Given the description of an element on the screen output the (x, y) to click on. 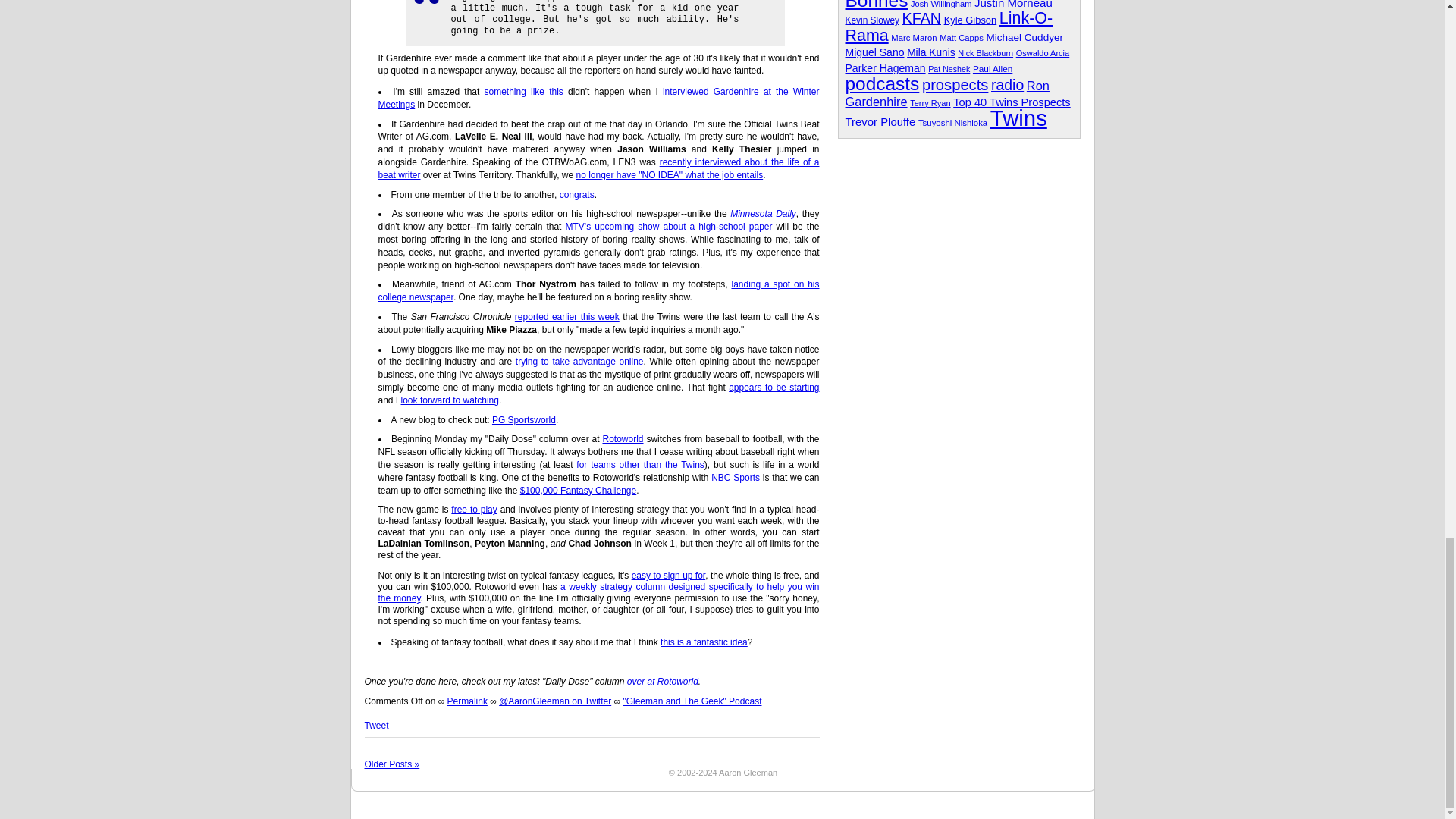
look forward to watching (450, 399)
reported earlier this week (567, 317)
MTV's upcoming show about a high-school paper (669, 226)
something like this (523, 91)
recently interviewed about the life of a beat writer (597, 168)
landing a spot on his college newspaper (597, 290)
Minnesota Daily (763, 213)
no longer have "NO IDEA" what the job entails (669, 174)
appears to be starting (773, 387)
congrats (576, 194)
interviewed Gardenhire at the Winter Meetings (597, 97)
trying to take advantage online (579, 361)
